Given the description of an element on the screen output the (x, y) to click on. 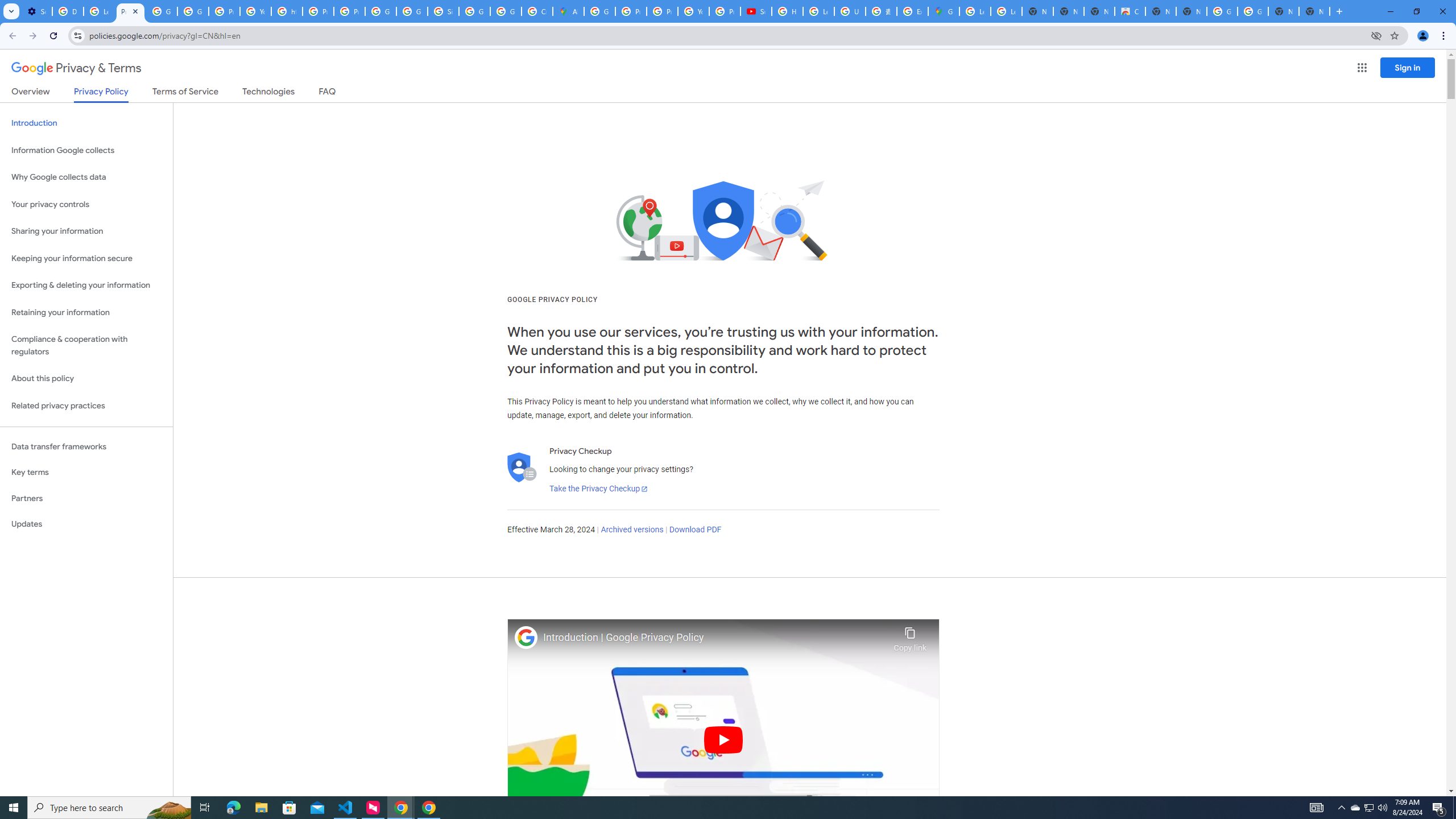
Subscriptions - YouTube (756, 11)
Google Account Help (161, 11)
Copy link (909, 636)
Settings - Performance (36, 11)
